Given the description of an element on the screen output the (x, y) to click on. 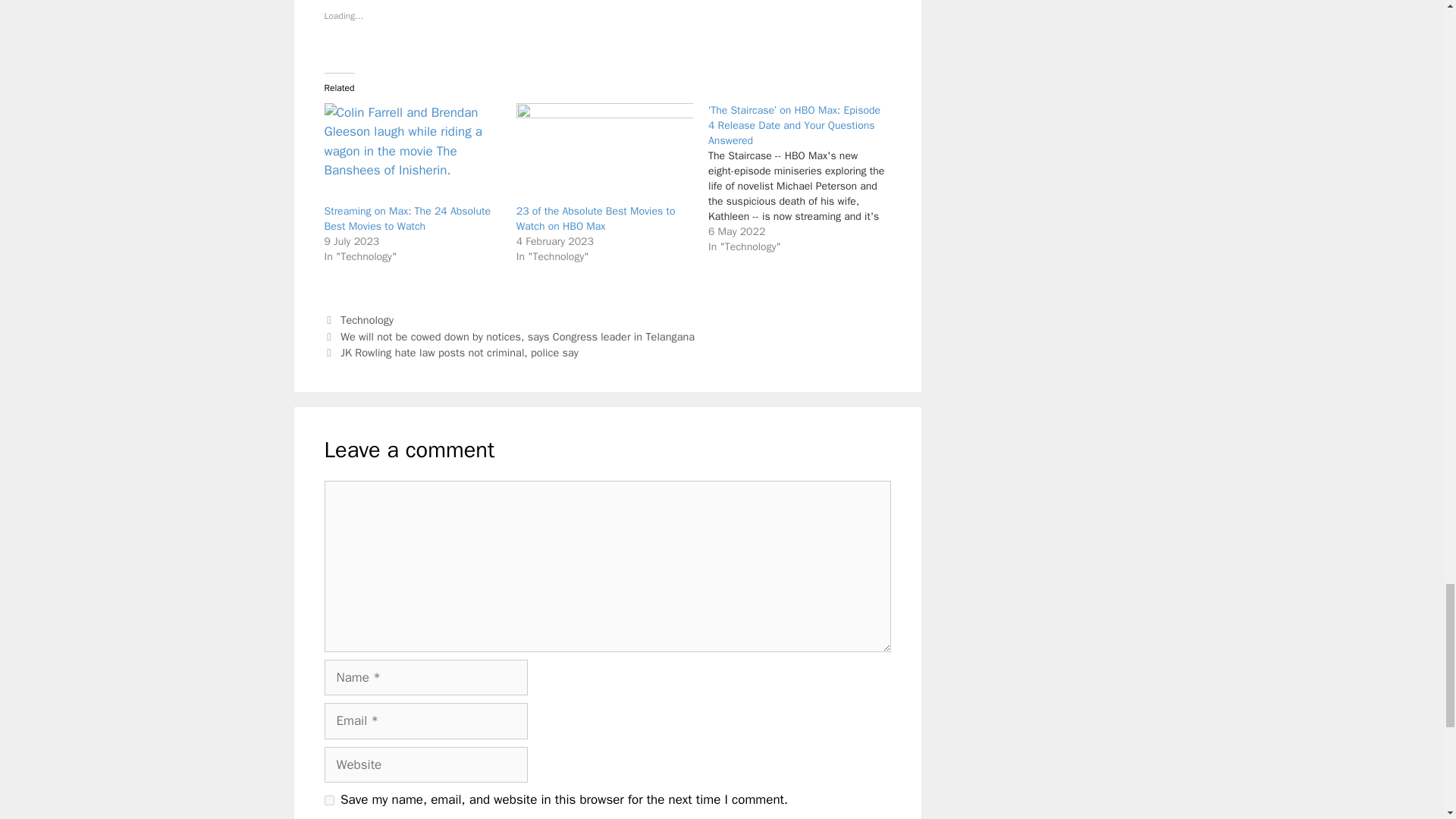
Streaming on Max: The 24 Absolute Best Movies to Watch (412, 153)
Streaming on Max: The 24 Absolute Best Movies to Watch (408, 218)
yes (329, 800)
